Given the description of an element on the screen output the (x, y) to click on. 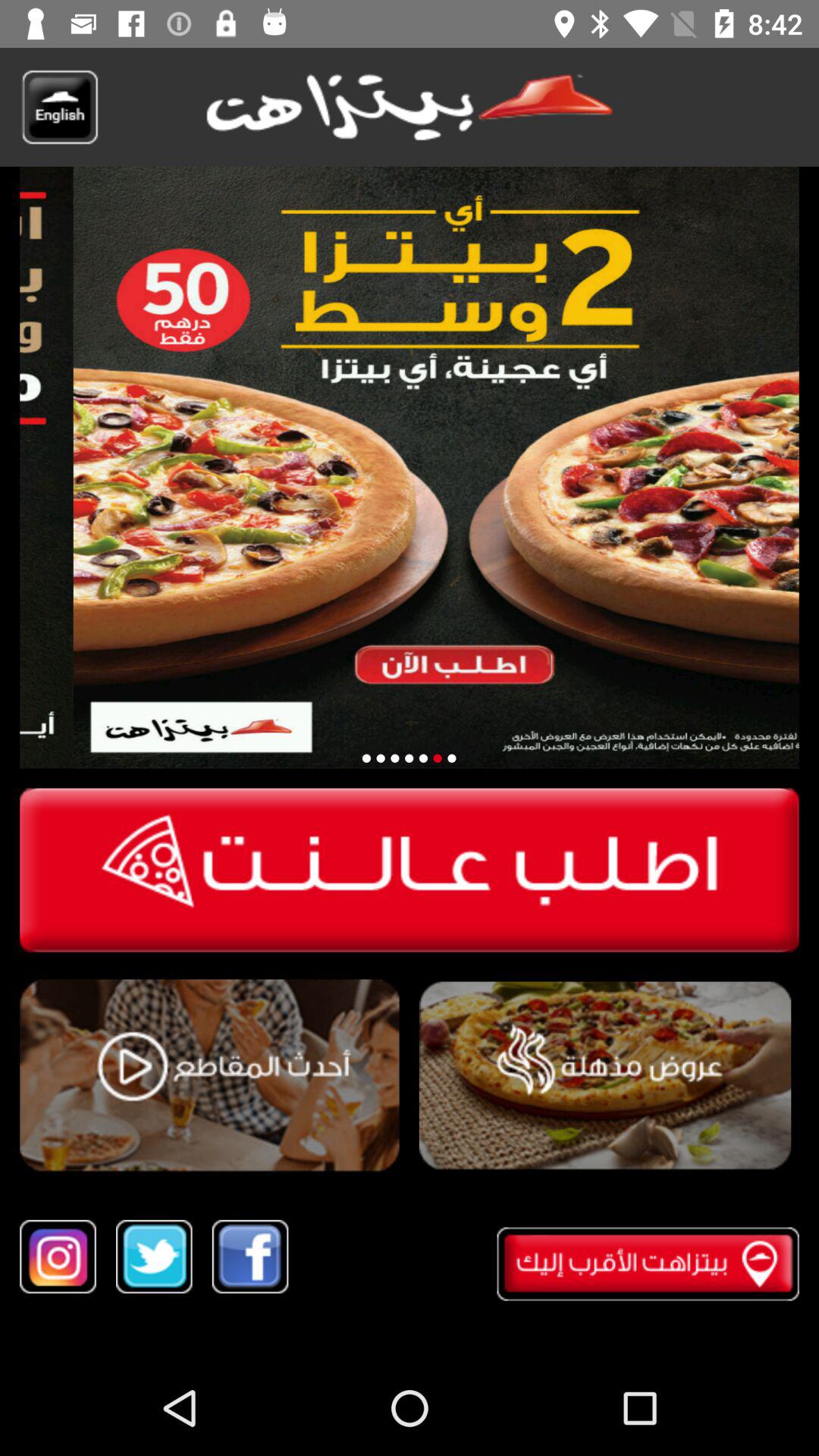
go to app twitter page (154, 1256)
